Given the description of an element on the screen output the (x, y) to click on. 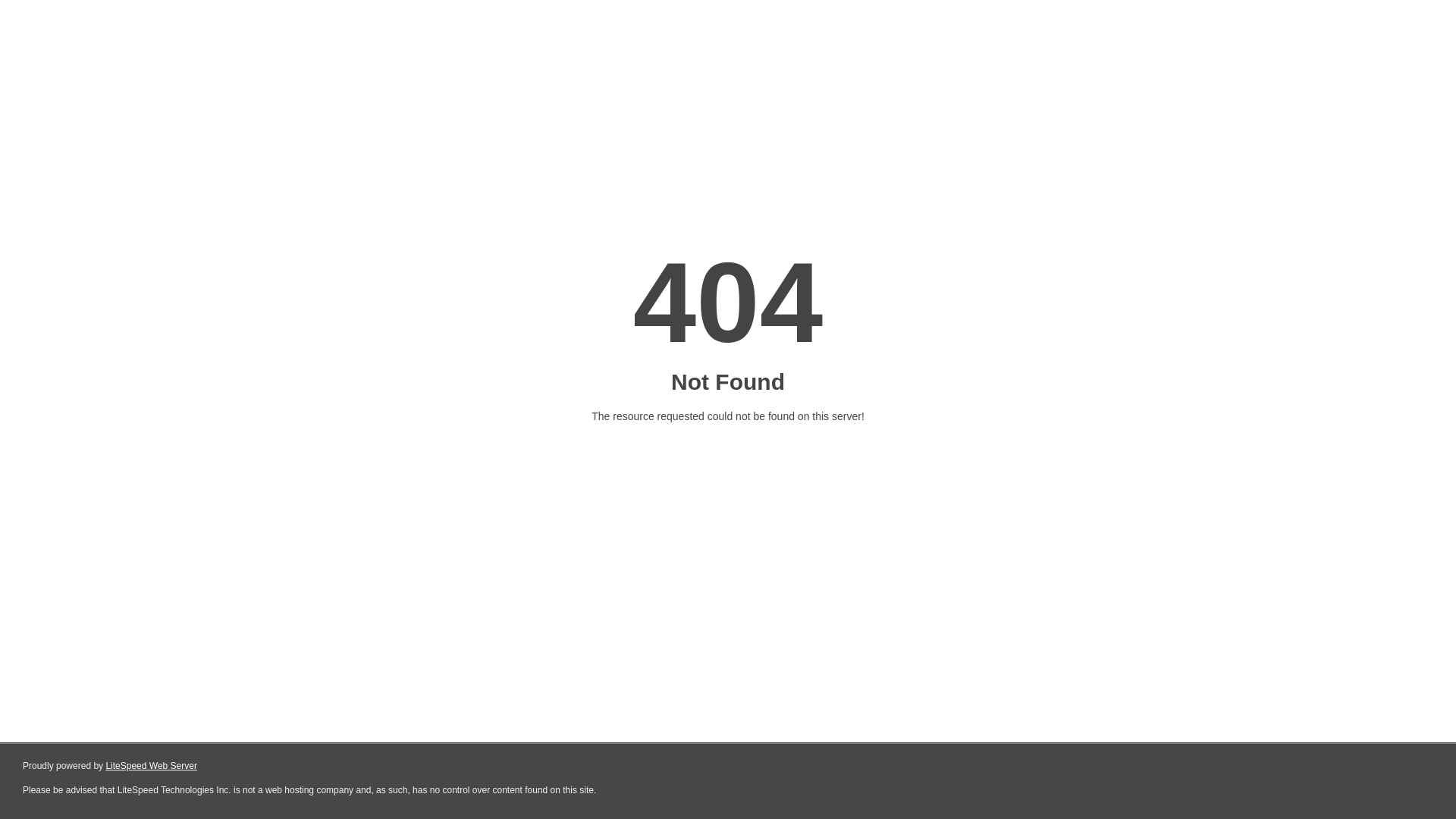
LiteSpeed Web Server Element type: text (151, 765)
